Given the description of an element on the screen output the (x, y) to click on. 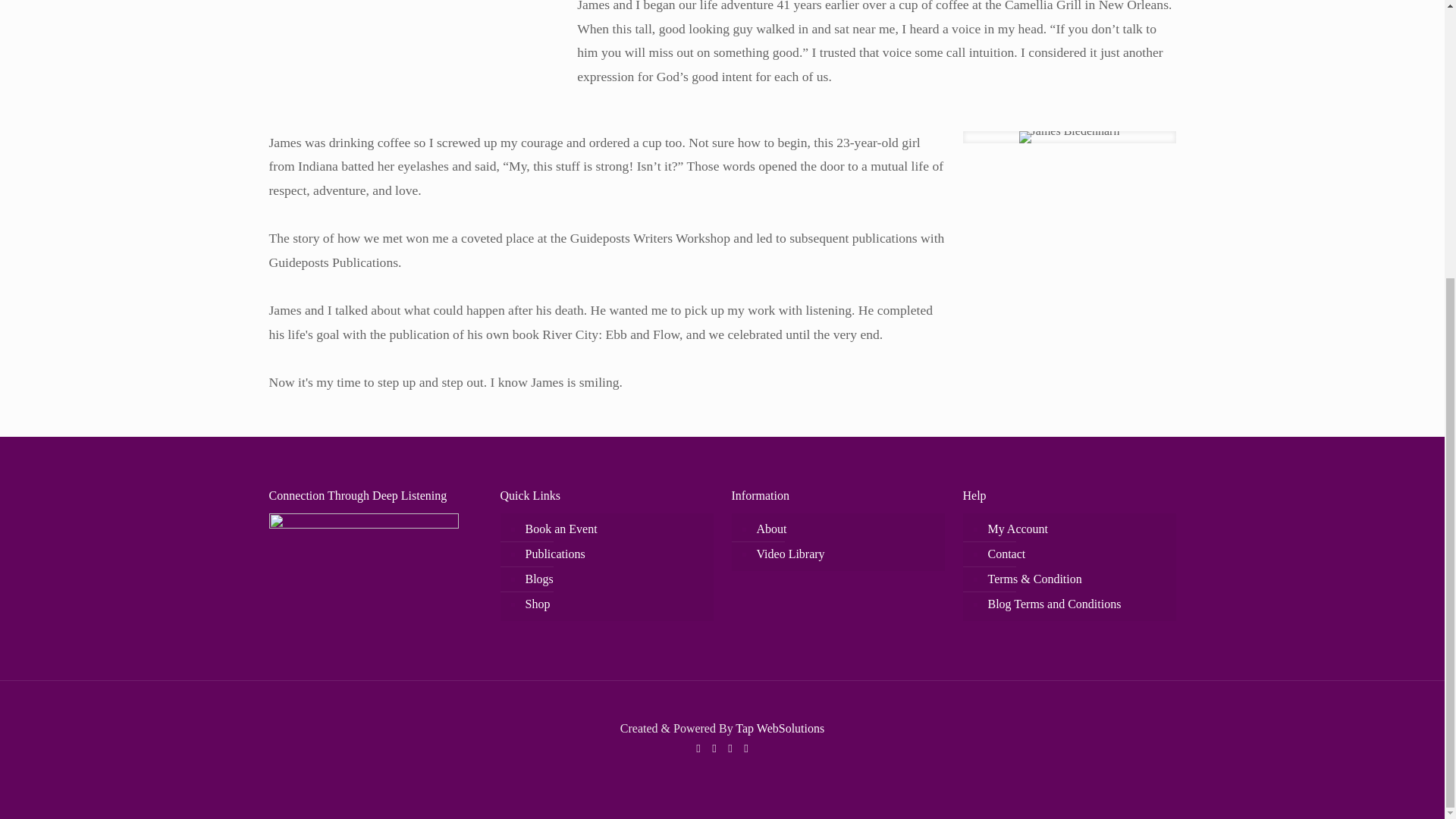
Book an Event (614, 529)
Vimeo (730, 748)
Facebook (698, 748)
Video Library (845, 554)
Blogs (614, 579)
Tap WebSolutions (779, 727)
Publications (614, 554)
Shop (614, 604)
About (845, 529)
Contact (1077, 554)
Blog Terms and Conditions (1077, 604)
Instagram (745, 748)
My Account (1077, 529)
